Given the description of an element on the screen output the (x, y) to click on. 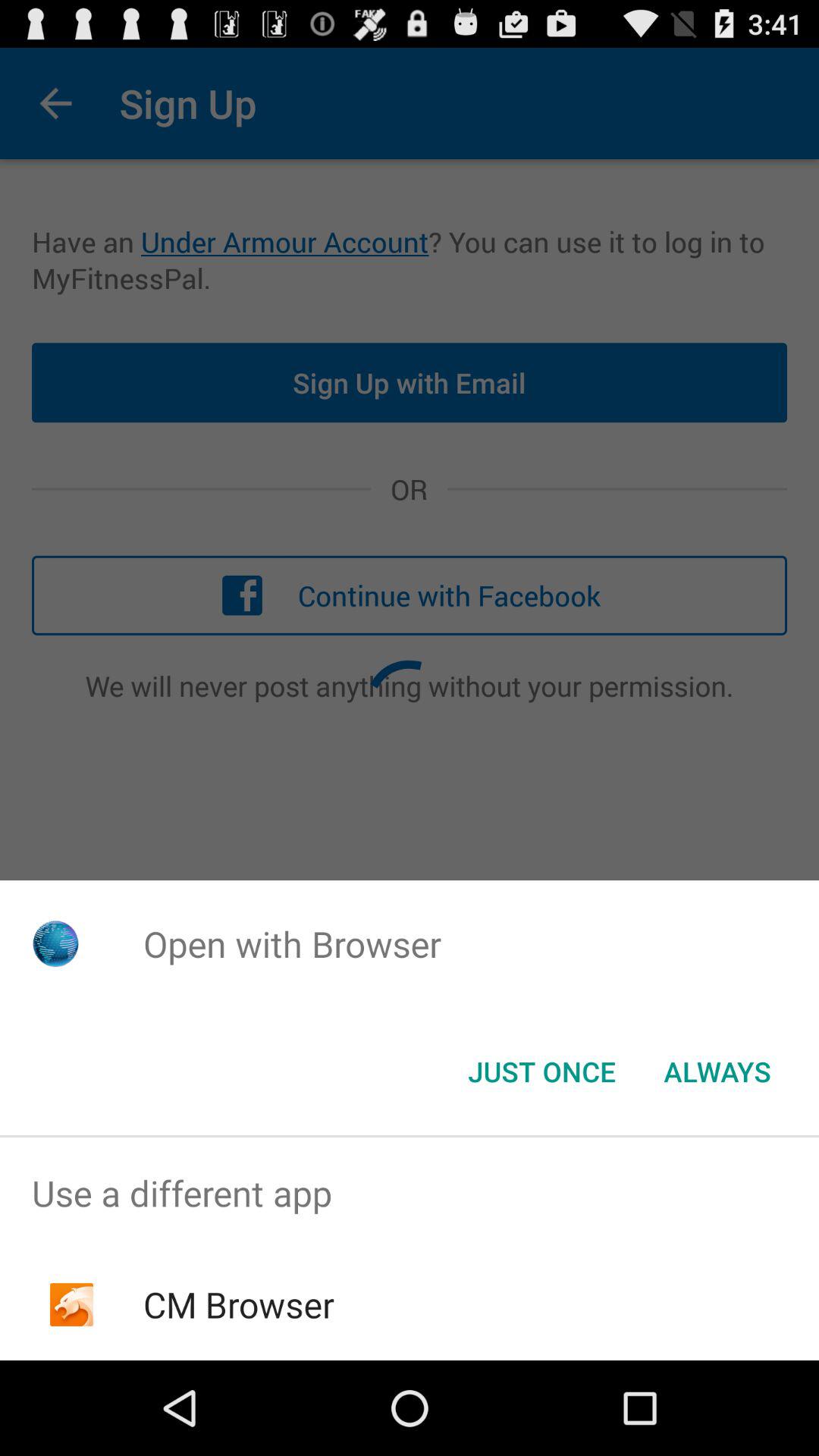
press the item above cm browser icon (409, 1192)
